Given the description of an element on the screen output the (x, y) to click on. 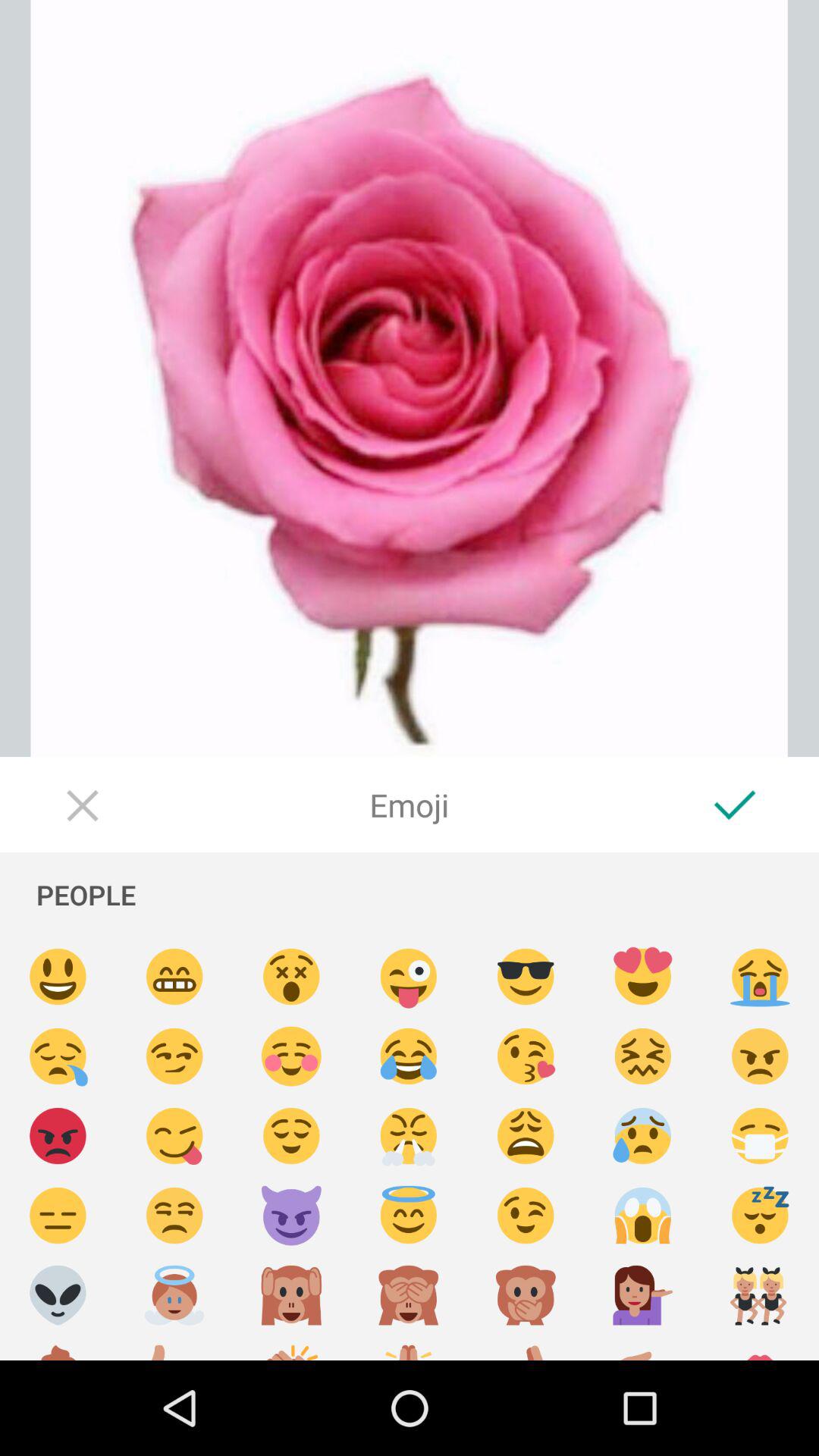
emoji (760, 1136)
